Given the description of an element on the screen output the (x, y) to click on. 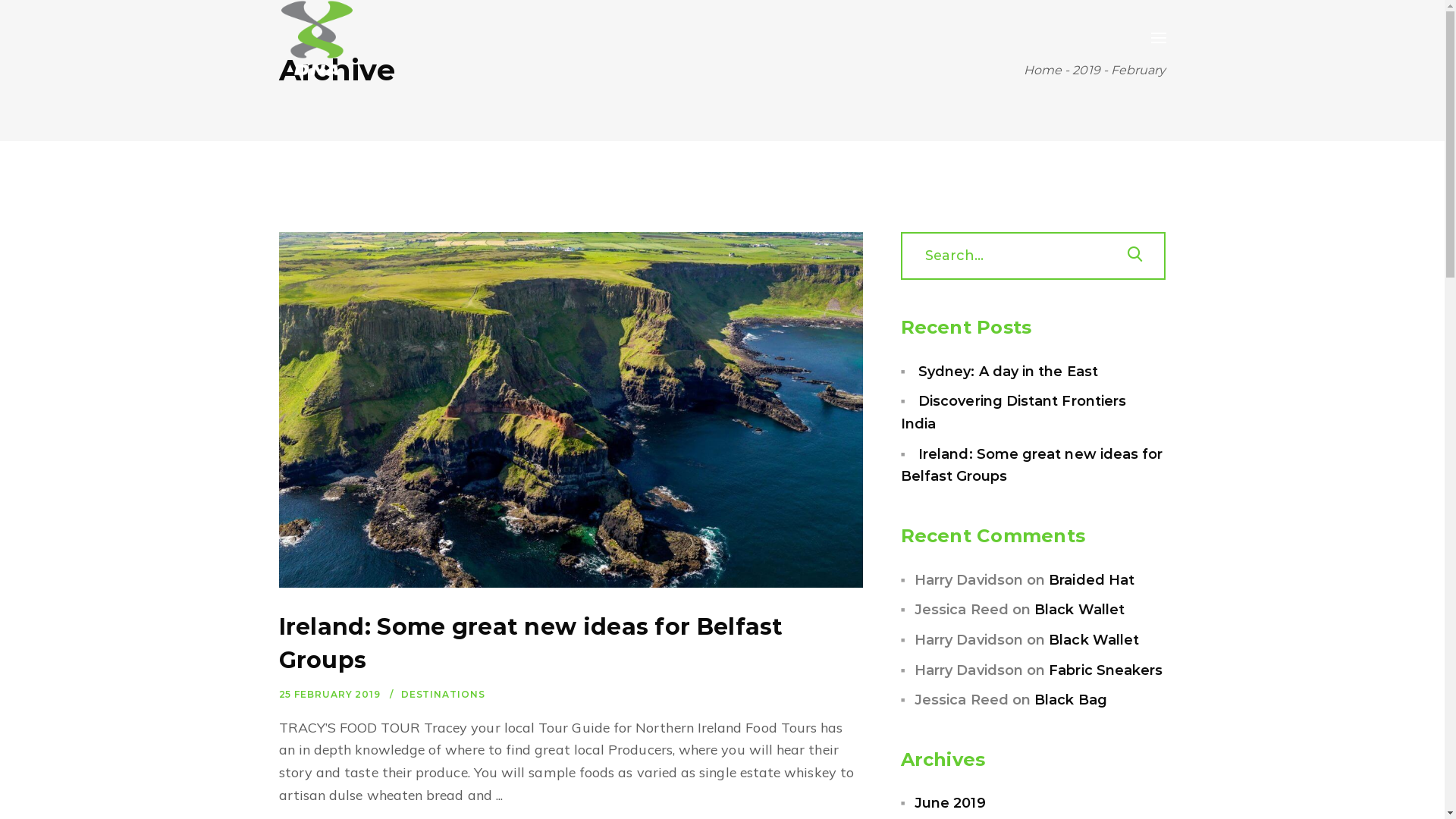
Black Wallet Element type: text (1093, 639)
Home Element type: text (1042, 69)
Terms & Conditions Element type: text (669, 620)
2019 Element type: text (1085, 69)
June 2019 Element type: text (949, 802)
Sydney: A day in the East Element type: text (1008, 371)
Discovering Distant Frontiers India Element type: text (1013, 412)
Black Wallet Element type: text (1079, 609)
DESTINATIONS Element type: text (443, 693)
Braided Hat Element type: text (1091, 579)
Privacy Policy Element type: text (567, 620)
Cookies Policy Element type: text (773, 620)
WYNT. Creative Element type: text (742, 660)
Fabric Sneakers Element type: text (1105, 670)
Ireland: Some great new ideas for Belfast Groups Element type: text (1031, 465)
Giveaway T&C's Element type: text (868, 620)
Ireland: Some great new ideas for Belfast Groups Element type: text (531, 643)
Black Bag Element type: text (1070, 699)
